Given the description of an element on the screen output the (x, y) to click on. 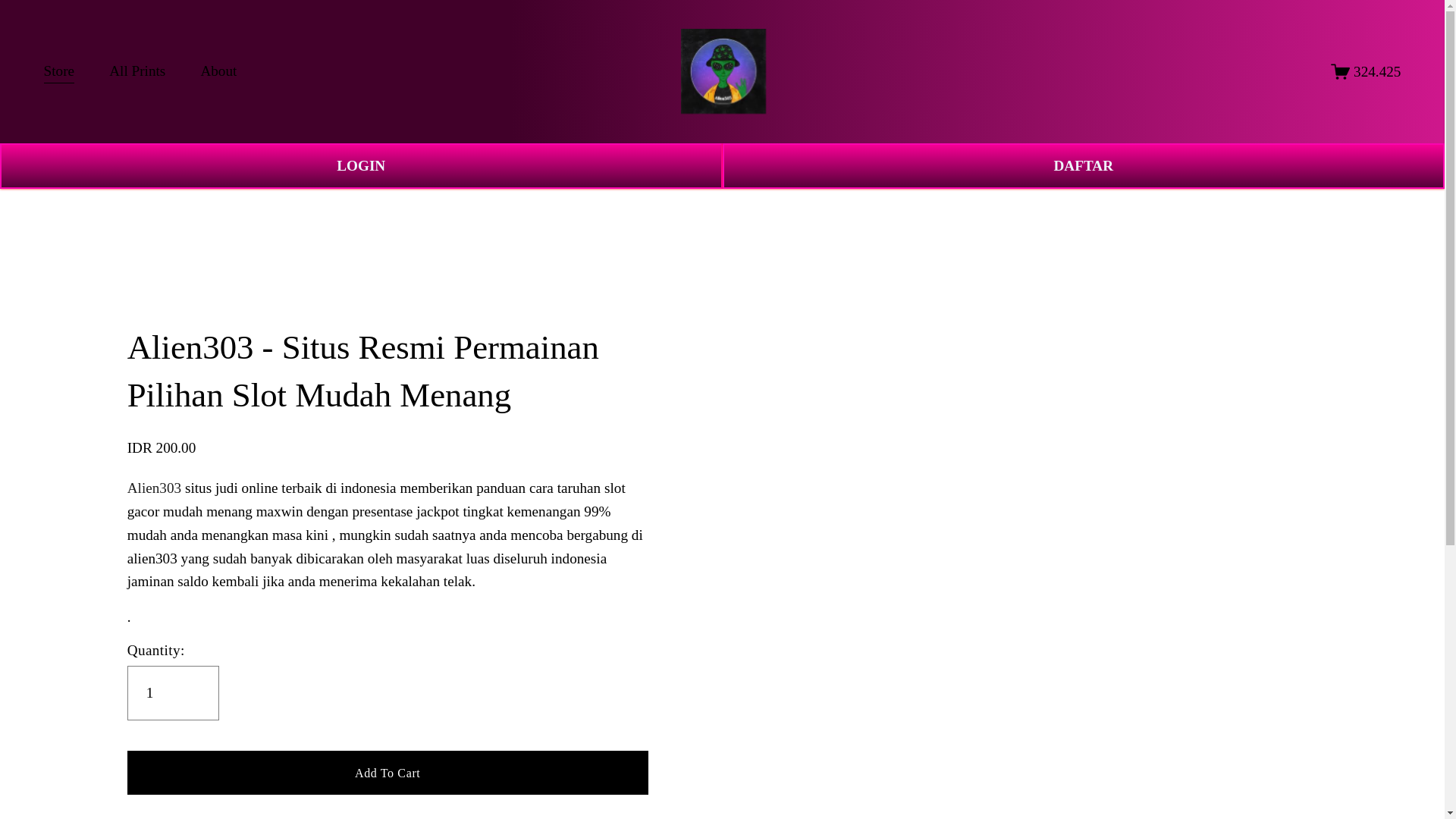
324.425 (1365, 71)
Store (59, 71)
LOGIN (361, 166)
All Prints (137, 71)
1 (173, 692)
Alien303 (154, 487)
Add To Cart (387, 772)
About (217, 71)
